Given the description of an element on the screen output the (x, y) to click on. 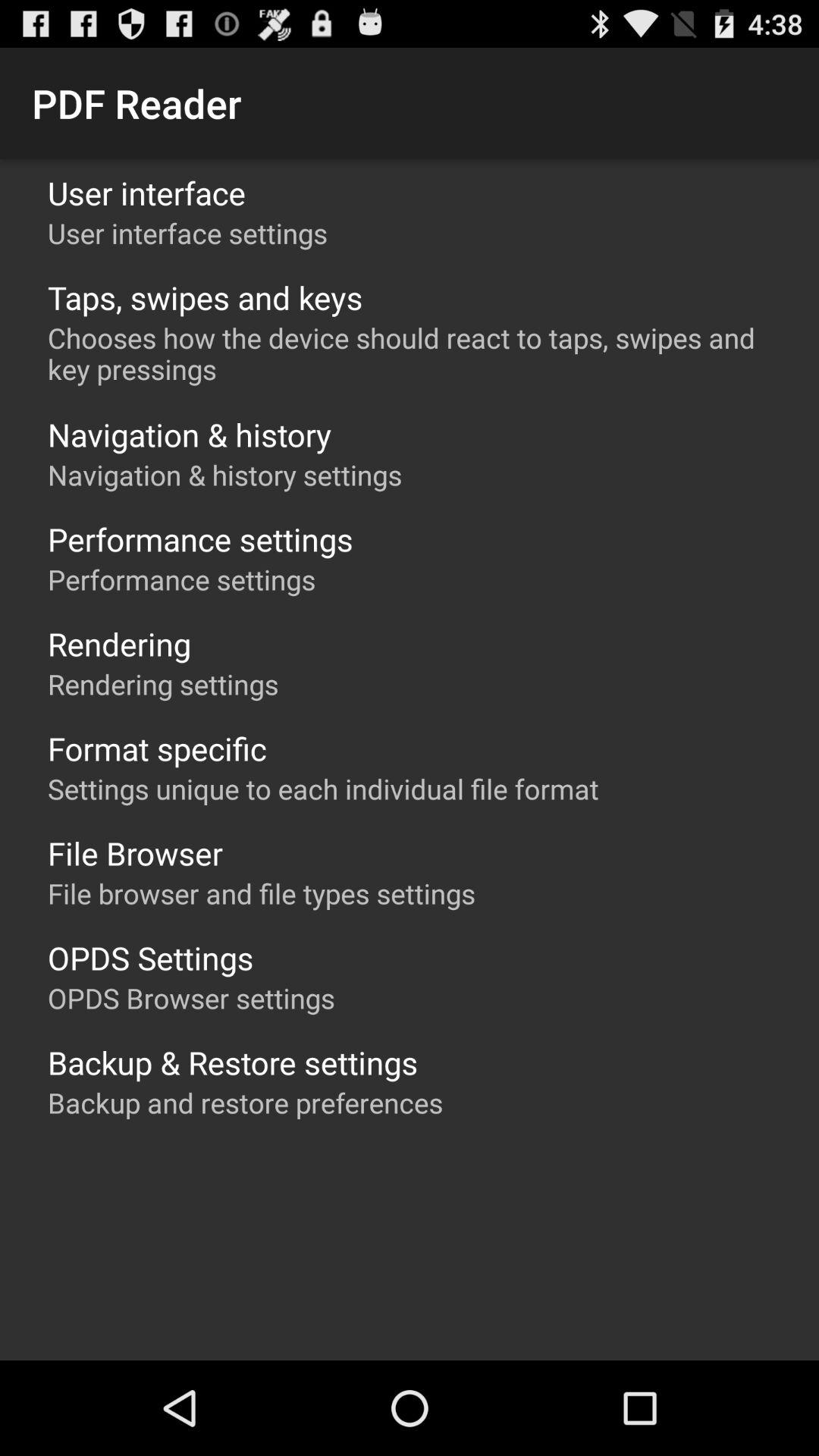
turn on settings unique to app (322, 788)
